Given the description of an element on the screen output the (x, y) to click on. 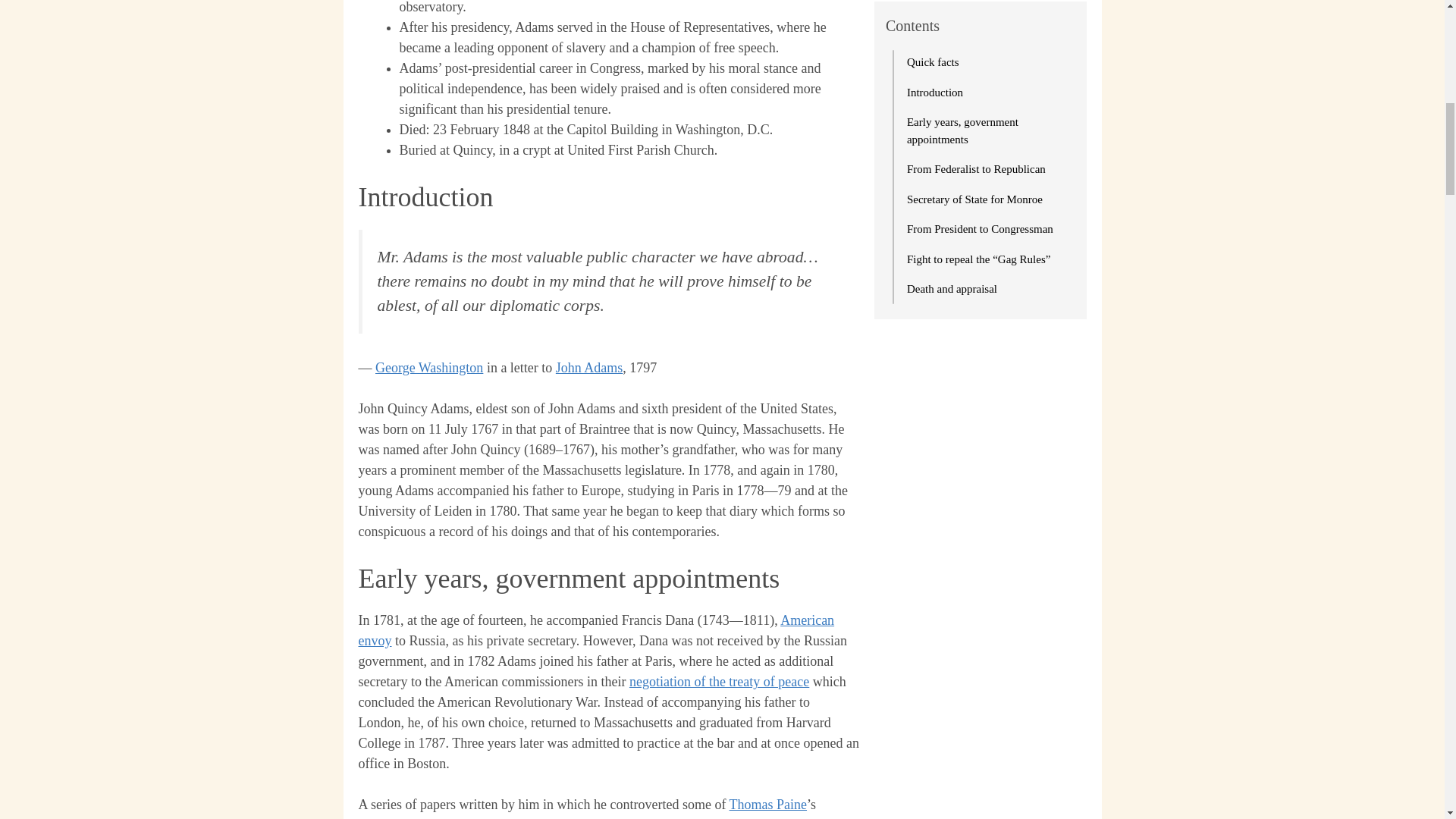
Scroll back to top (1406, 720)
